Given the description of an element on the screen output the (x, y) to click on. 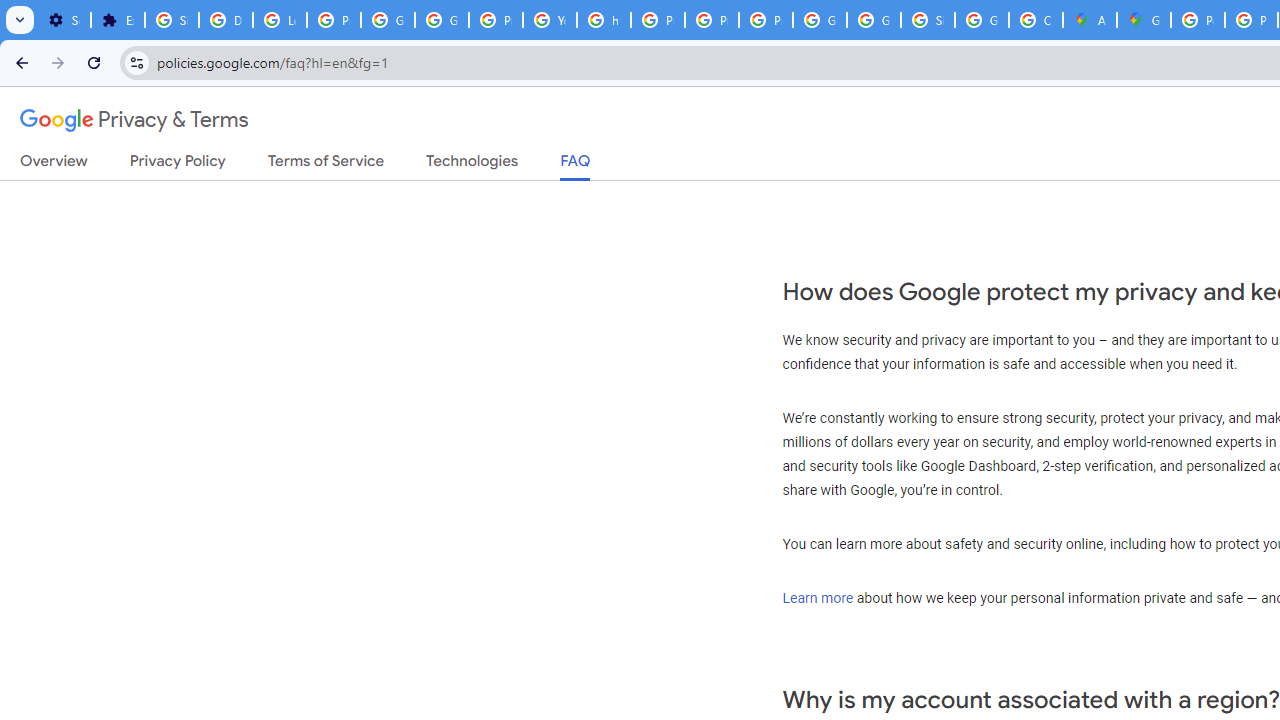
Learn more (817, 597)
Google Account Help (387, 20)
Create your Google Account (1035, 20)
Settings - On startup (63, 20)
Delete photos & videos - Computer - Google Photos Help (225, 20)
Sign in - Google Accounts (171, 20)
Sign in - Google Accounts (927, 20)
Terms of Service (326, 165)
